Given the description of an element on the screen output the (x, y) to click on. 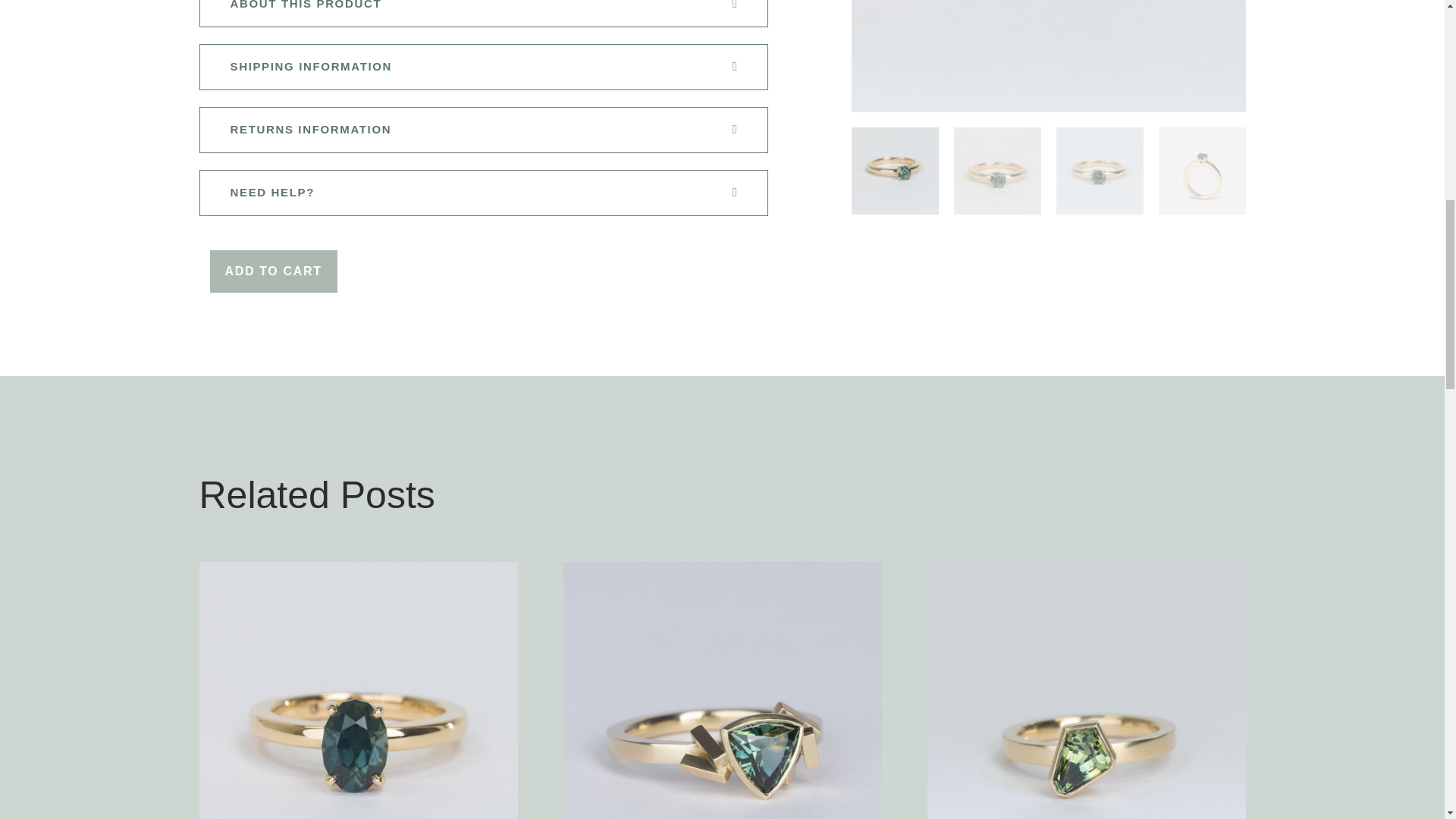
ADD TO CART (272, 271)
SHIPPING INFORMATION (311, 66)
NEED HELP? (272, 192)
ABOUT THIS PRODUCT (305, 5)
RETURNS INFORMATION (310, 129)
